Given the description of an element on the screen output the (x, y) to click on. 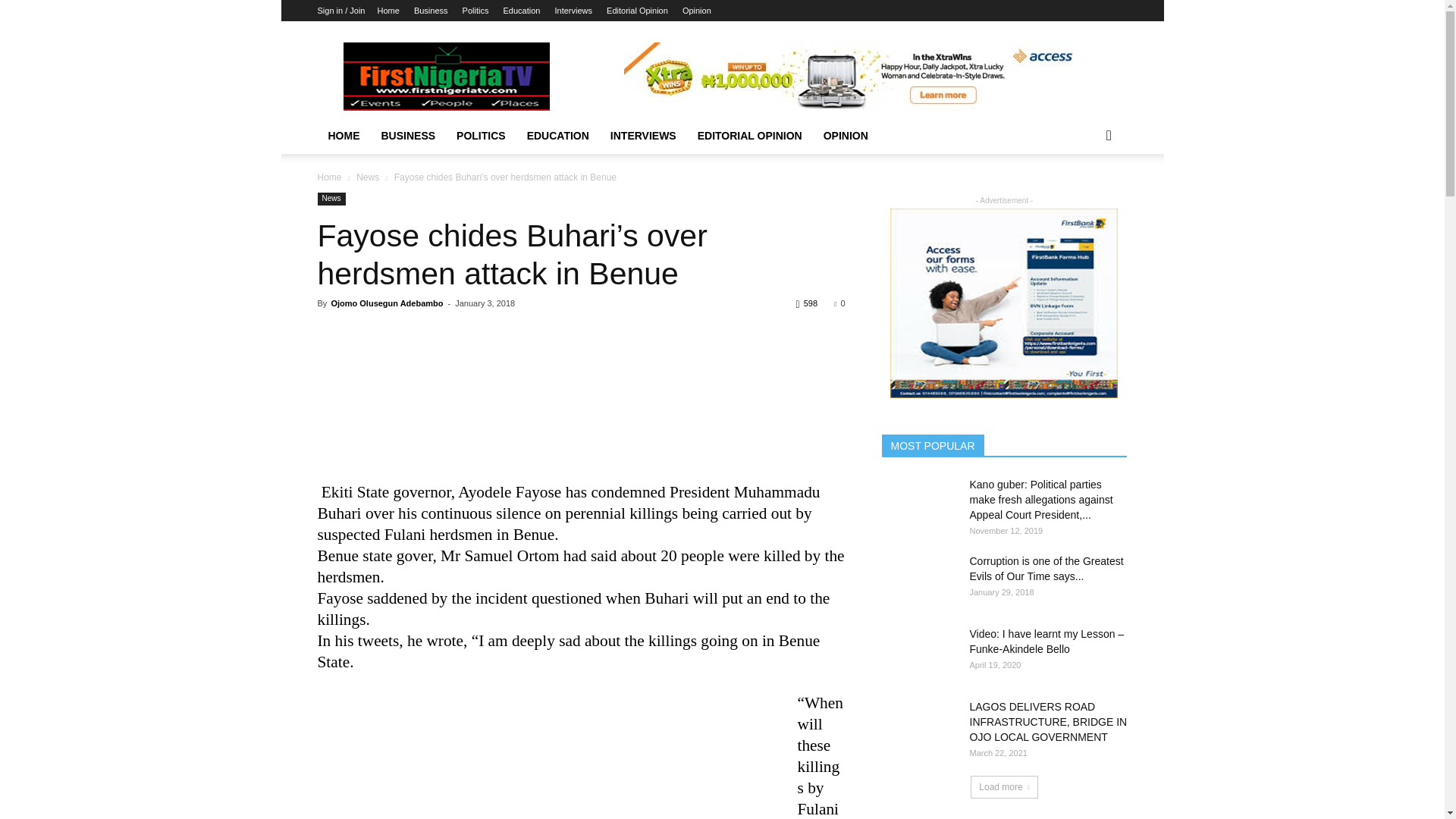
Opinion (696, 10)
EDITORIAL OPINION (749, 135)
POLITICS (480, 135)
INTERVIEWS (643, 135)
Interviews (573, 10)
Politics (476, 10)
BUSINESS (407, 135)
OPINION (845, 135)
View all posts in News (367, 176)
Business (430, 10)
Home (387, 10)
Education (521, 10)
EDUCATION (557, 135)
Advertisement (580, 403)
HOME (343, 135)
